Given the description of an element on the screen output the (x, y) to click on. 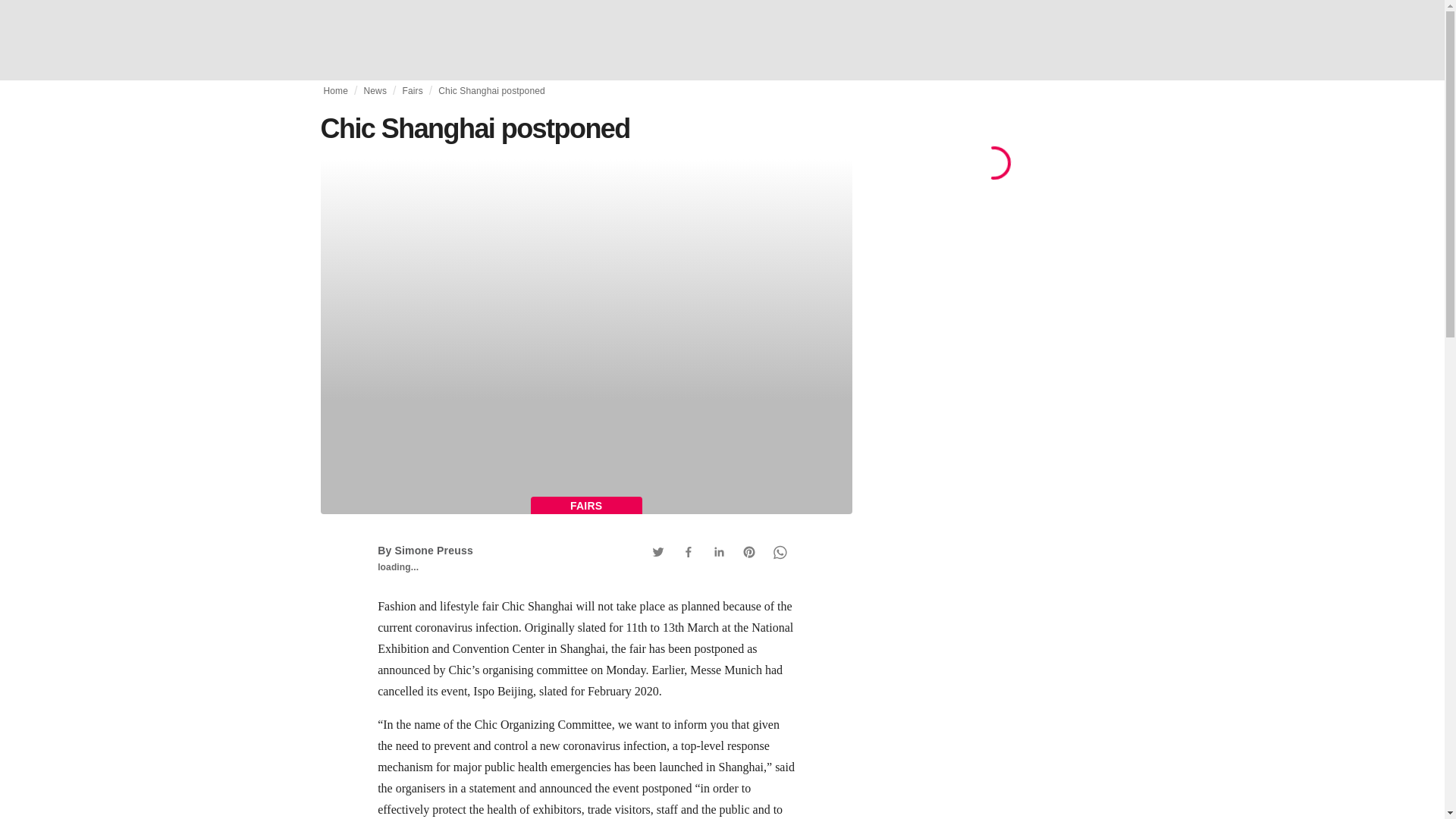
By Simone Preuss (425, 550)
News (375, 90)
Fairs (411, 90)
Chic Shanghai postponed (491, 90)
Home (335, 90)
